Given the description of an element on the screen output the (x, y) to click on. 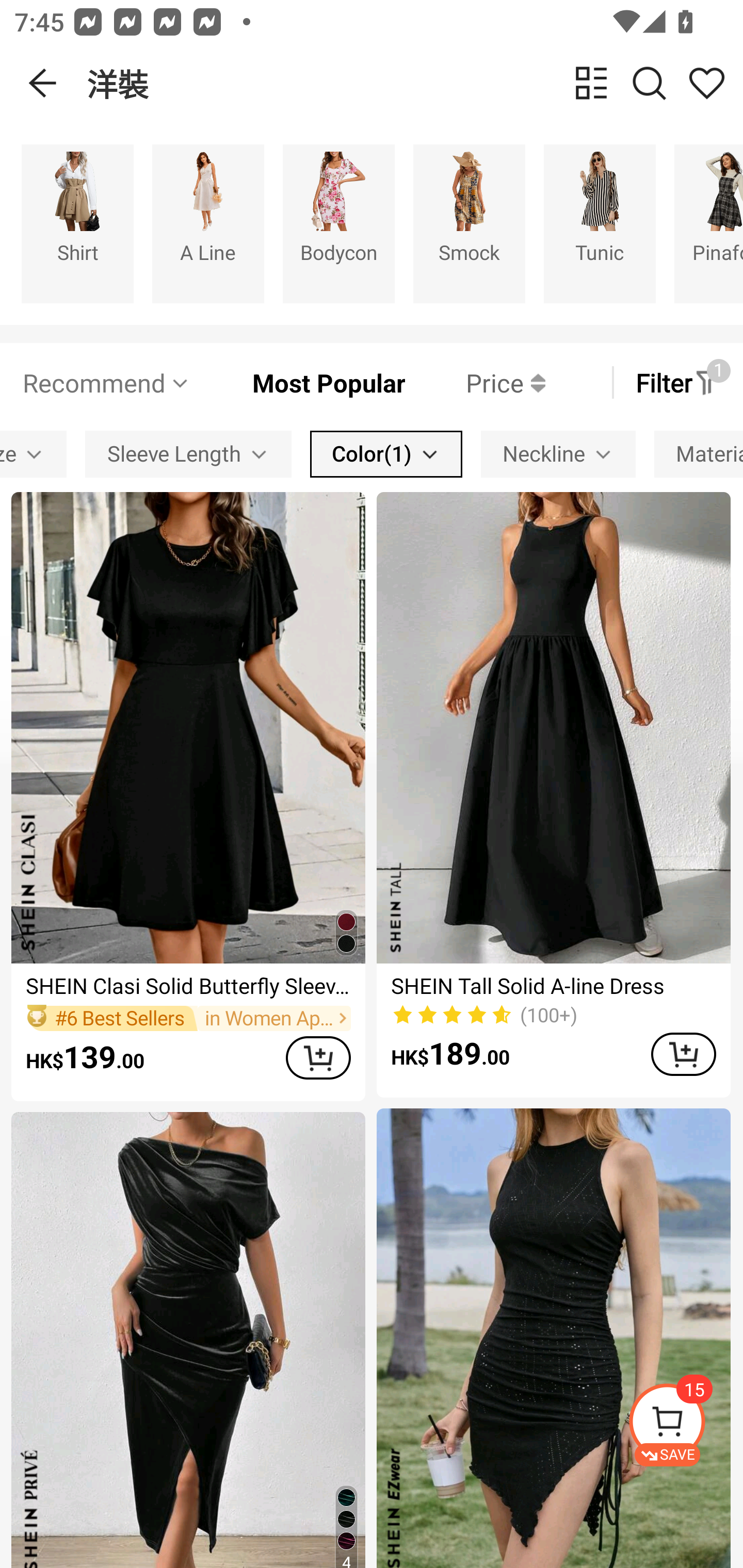
洋裝 change view Search Share (414, 82)
change view (591, 82)
Search (648, 82)
Share (706, 82)
Shirt (77, 223)
A Line (208, 223)
Bodycon (338, 223)
Smock (469, 223)
Tunic (599, 223)
Pinafore (708, 223)
Recommend (106, 382)
Most Popular (297, 382)
Price (474, 382)
Filter 1 (677, 382)
Sleeve Length (188, 454)
Color(1) (385, 454)
Neckline (558, 454)
Material (698, 454)
#6 Best Sellers in Women Apparel (188, 1018)
ADD TO CART (683, 1054)
ADD TO CART (318, 1057)
SAVE (685, 1424)
